Given the description of an element on the screen output the (x, y) to click on. 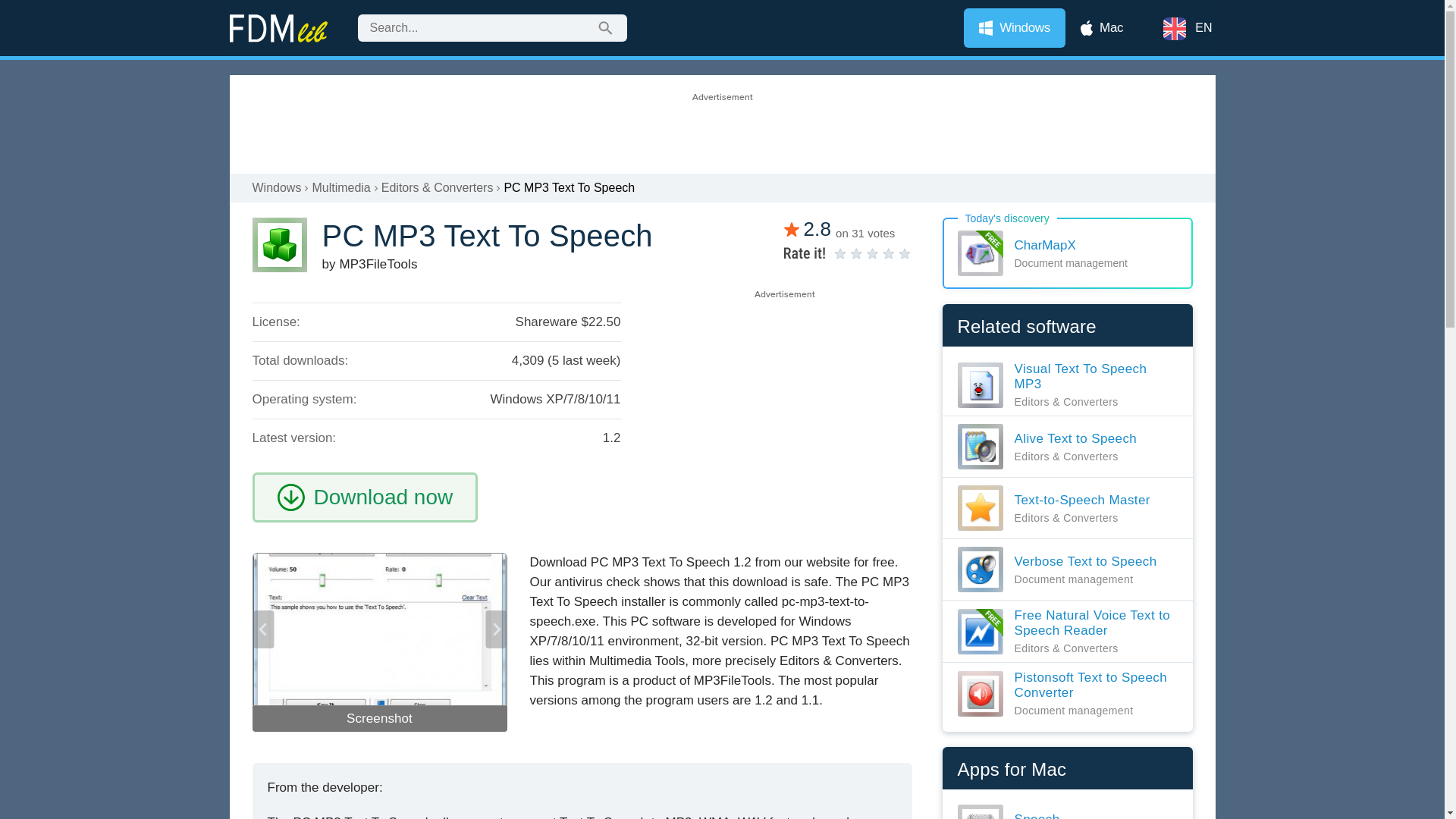
Advertisement (783, 407)
1 (839, 253)
Verbose Text to Speech (1056, 569)
Advertisement (721, 124)
2 (848, 253)
Download now (383, 496)
4 (865, 253)
Text-to-Speech Master (1053, 507)
CharMapX (1067, 253)
